Given the description of an element on the screen output the (x, y) to click on. 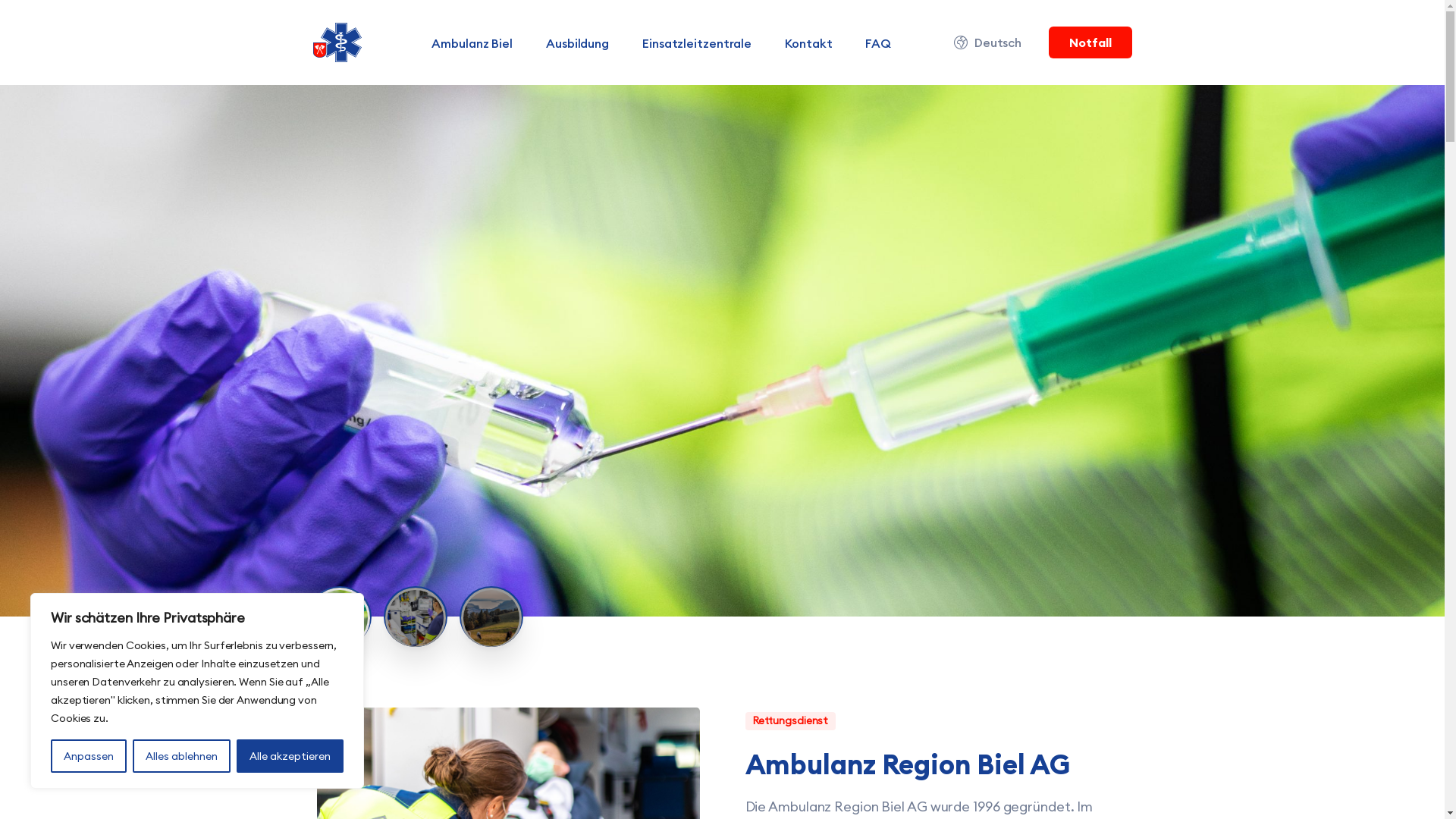
Alle akzeptieren Element type: text (289, 755)
Ausbildung Element type: text (577, 42)
Kontakt Element type: text (807, 42)
Alles ablehnen Element type: text (181, 755)
Ambulanz Biel Element type: text (471, 42)
Anpassen Element type: text (88, 755)
Notfall Element type: text (1089, 42)
Deutsch Element type: text (988, 42)
FAQ Element type: text (878, 42)
Einsatzleitzentrale Element type: text (696, 42)
